Given the description of an element on the screen output the (x, y) to click on. 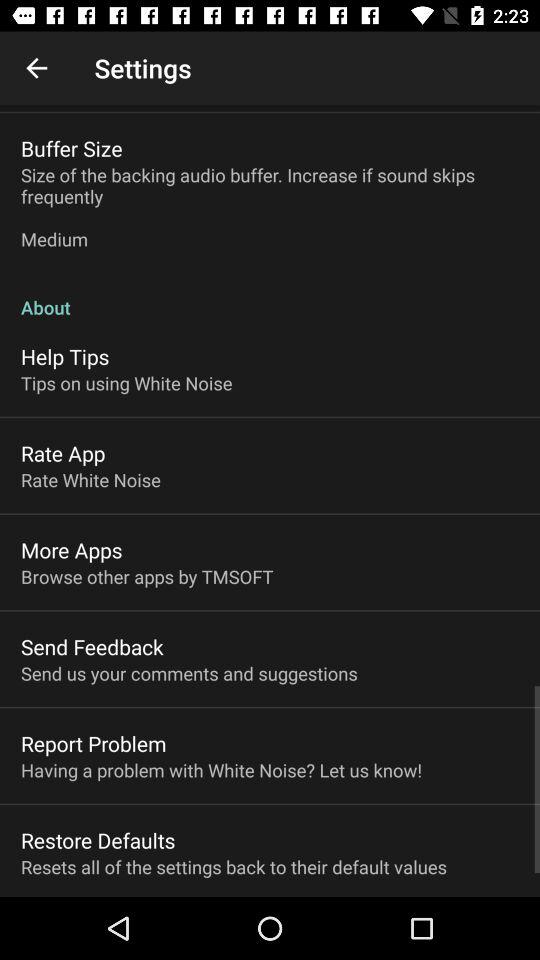
turn off the app next to settings app (36, 68)
